Given the description of an element on the screen output the (x, y) to click on. 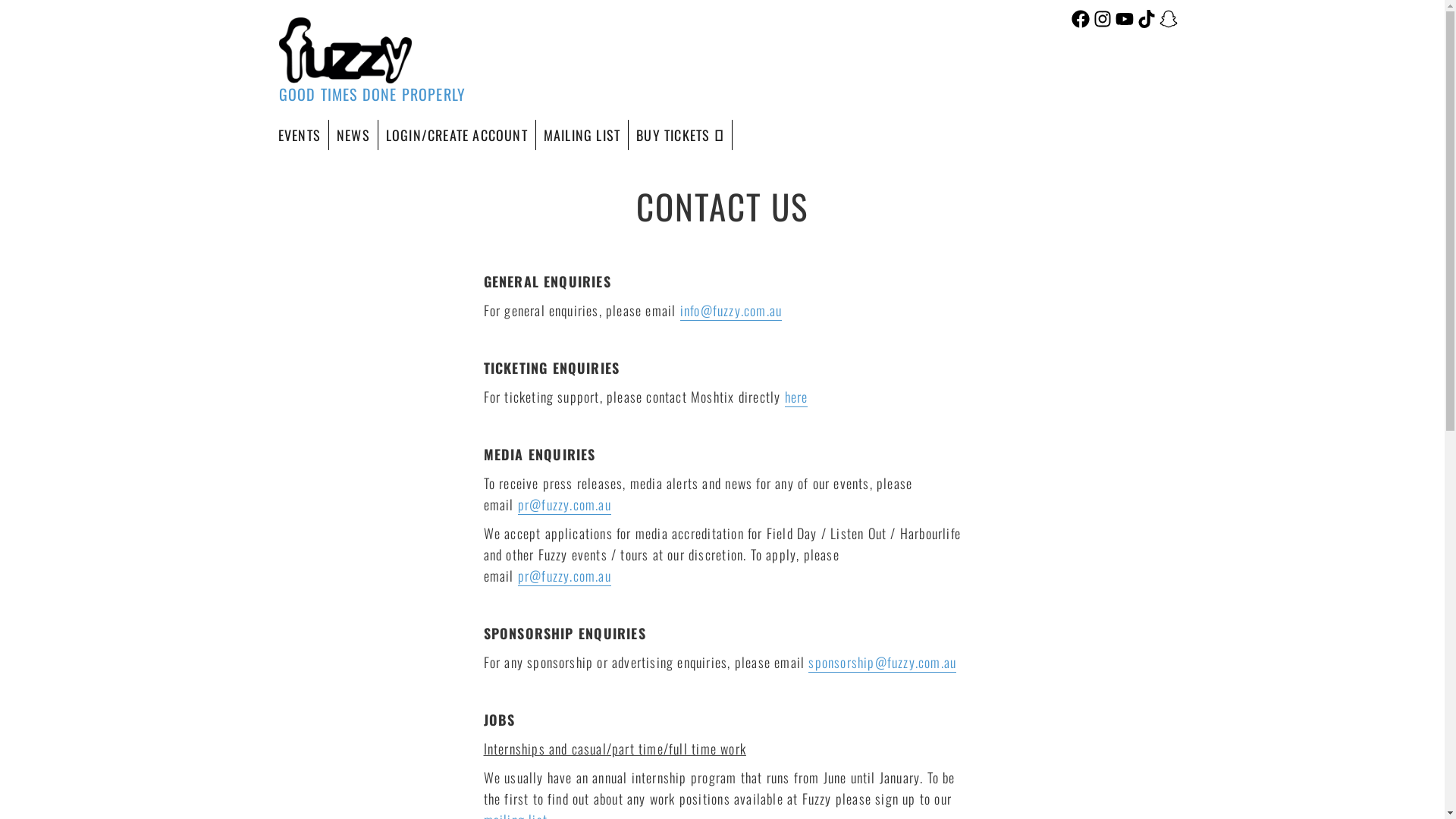
EVENTS Element type: text (299, 134)
info@fuzzy.com.au Element type: text (730, 310)
here Element type: text (796, 396)
LOGIN/CREATE ACCOUNT Element type: text (457, 134)
sponsorship@fuzzy.com.au Element type: text (882, 661)
MAILING LIST Element type: text (582, 134)
pr@fuzzy.com.au Element type: text (564, 575)
pr@fuzzy.com.au Element type: text (564, 504)
NEWS Element type: text (353, 134)
